Given the description of an element on the screen output the (x, y) to click on. 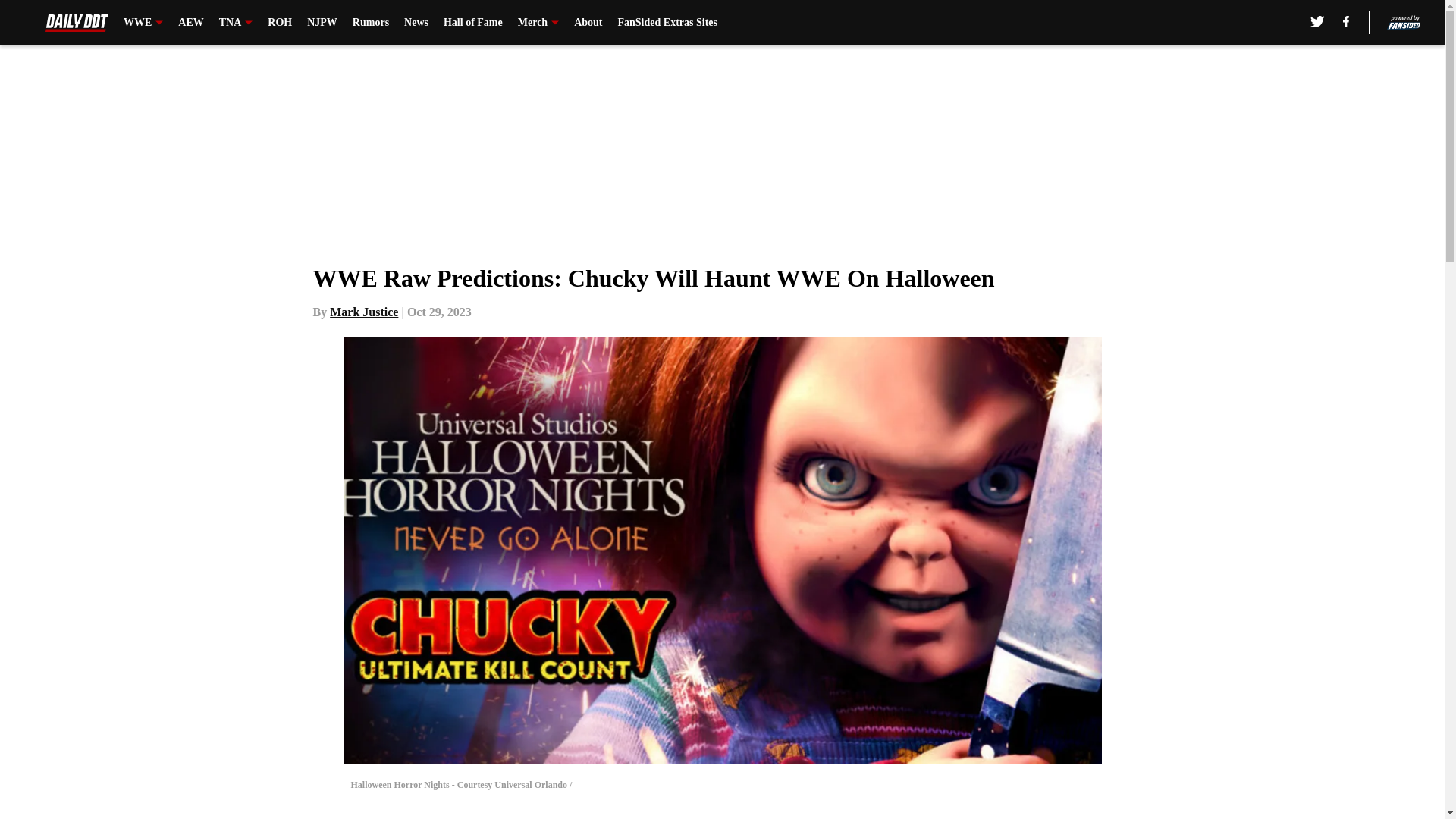
Hall of Fame (473, 22)
About (587, 22)
NJPW (322, 22)
News (416, 22)
FanSided Extras Sites (666, 22)
Rumors (370, 22)
Mark Justice (363, 311)
ROH (279, 22)
AEW (190, 22)
